Given the description of an element on the screen output the (x, y) to click on. 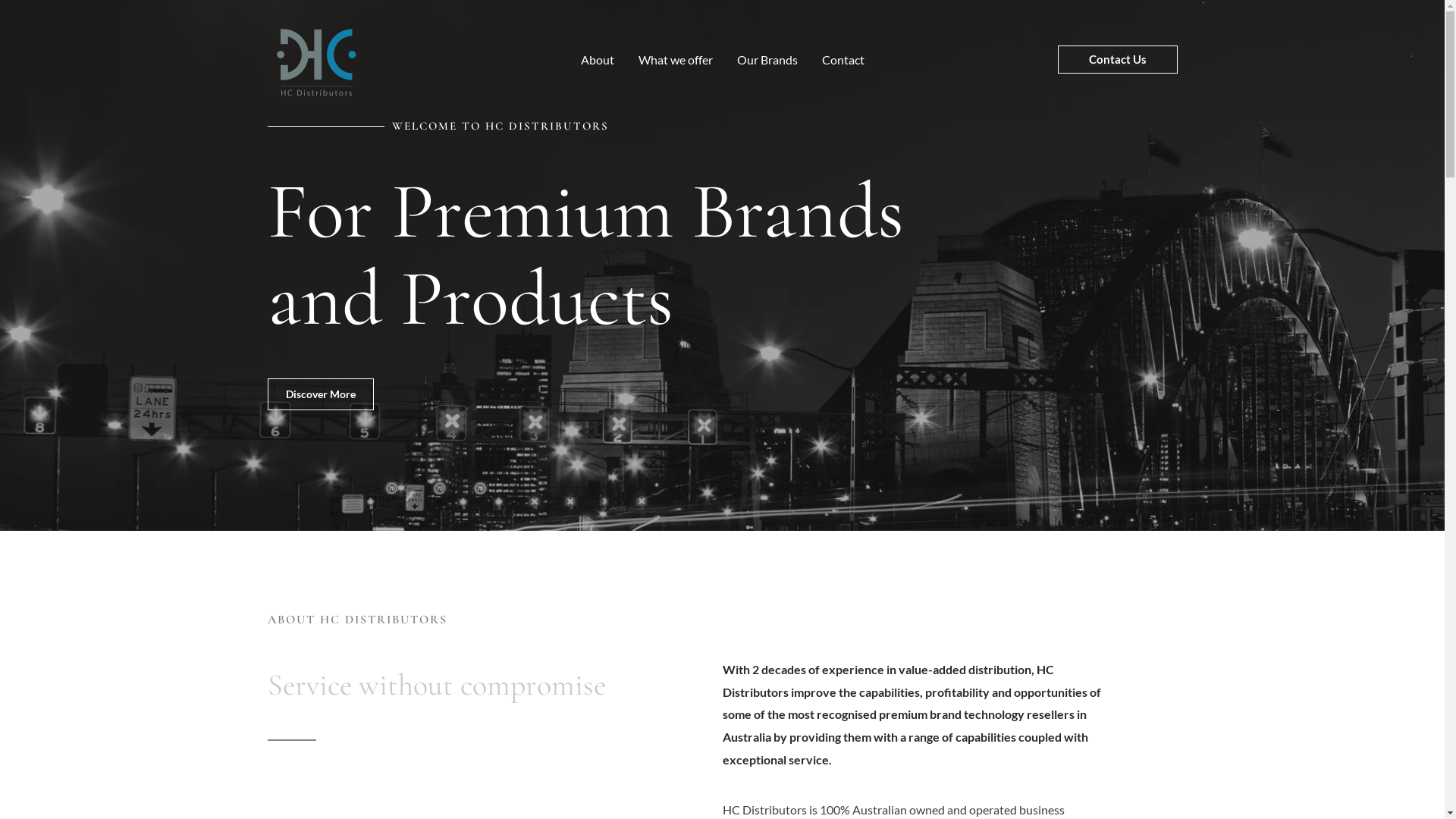
Contact Us Element type: text (1116, 59)
What we offer Element type: text (675, 59)
About Element type: text (597, 59)
Contact Element type: text (842, 59)
Our Brands Element type: text (766, 59)
Discover More Element type: text (319, 394)
